Given the description of an element on the screen output the (x, y) to click on. 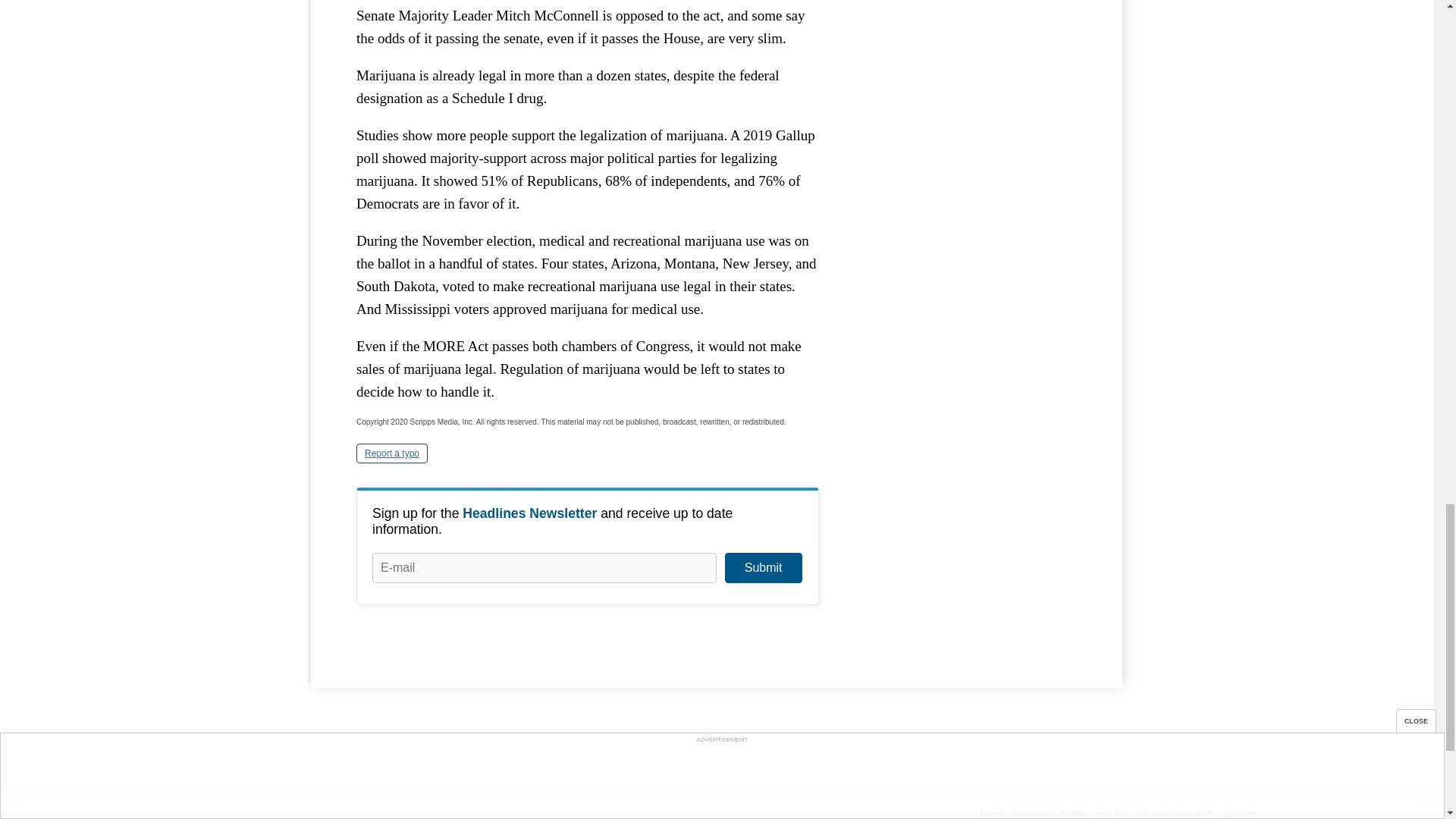
Submit (763, 567)
